Given the description of an element on the screen output the (x, y) to click on. 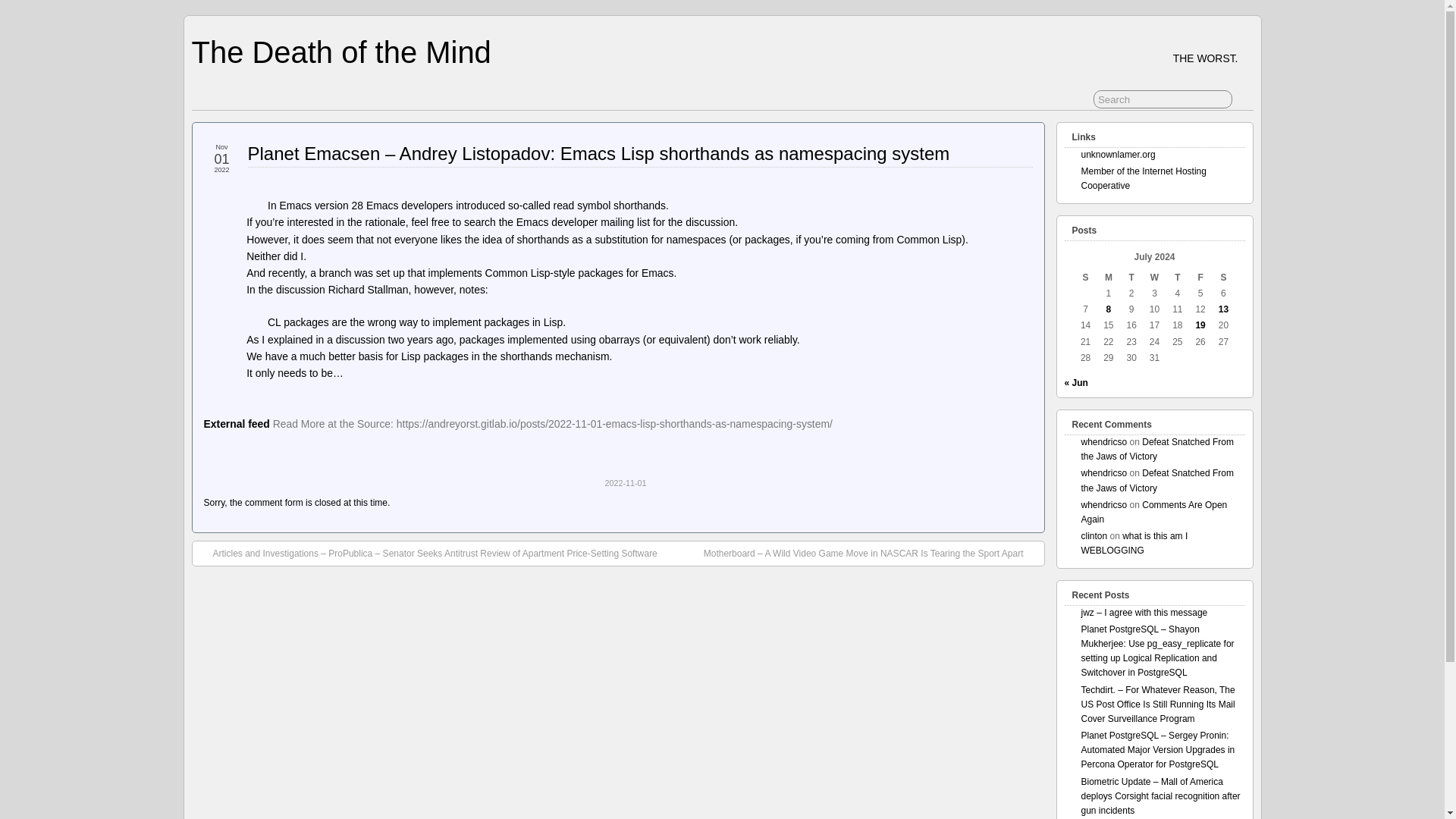
whendricso (1103, 441)
Member of the Internet Hosting Cooperative (1144, 178)
Wednesday (1153, 278)
whendricso (1103, 504)
what is this am I WEBLOGGING (1134, 543)
13 (1223, 308)
Search (1162, 99)
19 (1200, 325)
Saturday (1222, 278)
Tuesday (1131, 278)
Defeat Snatched From the Jaws of Victory (1157, 480)
Friday (1200, 278)
Comments Are Open Again (1154, 511)
unknownlamer.org (1118, 154)
whendricso (1103, 472)
